Given the description of an element on the screen output the (x, y) to click on. 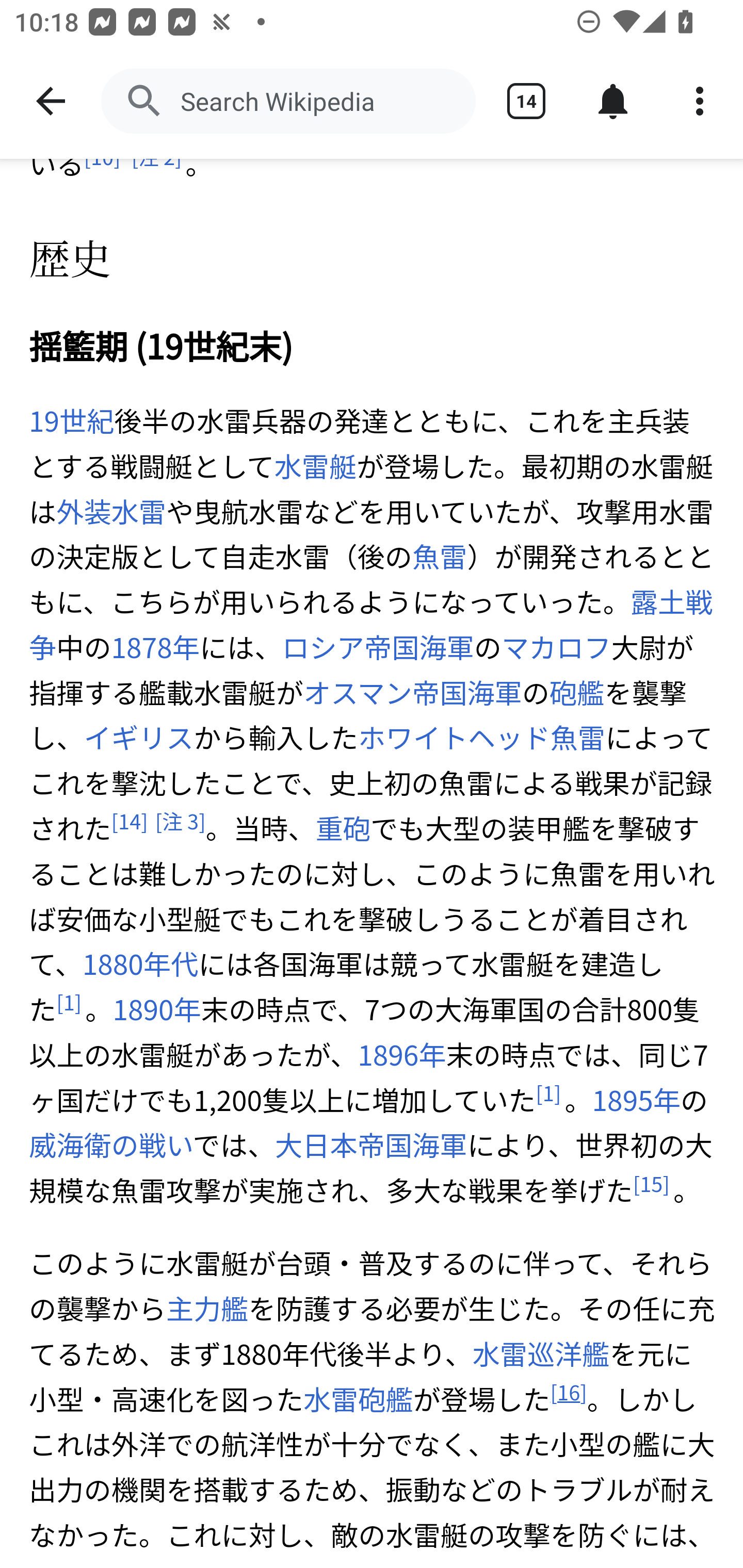
Show tabs 14 (525, 100)
Notifications (612, 100)
Navigate up (50, 101)
More options (699, 101)
Search Wikipedia (288, 100)
19世紀 (71, 421)
水雷艇 (314, 466)
外装水雷 (111, 510)
魚雷 (439, 556)
露土戦争 (370, 624)
1878年 (154, 646)
ロシア帝国海軍 (377, 646)
マカロフ (556, 646)
オスマン帝国海軍 (412, 692)
砲艦 (576, 692)
イギリス (138, 737)
ホワイトヘッド魚雷 (482, 737)
[] [ 14 ] (128, 821)
[注 ] [注  3 ] (180, 821)
重砲 (343, 828)
1880年代 (139, 964)
[] [ 1 ] (69, 1002)
1890年 (157, 1009)
1896年 (402, 1054)
[] [ 1 ] (547, 1093)
1895年 (634, 1099)
威海衛の戦い (110, 1145)
大日本帝国海軍 (370, 1145)
[] [ 15 ] (650, 1183)
主力艦 (206, 1308)
水雷巡洋艦 (540, 1353)
[] [ 16 ] (568, 1392)
水雷砲艦 (357, 1399)
